Given the description of an element on the screen output the (x, y) to click on. 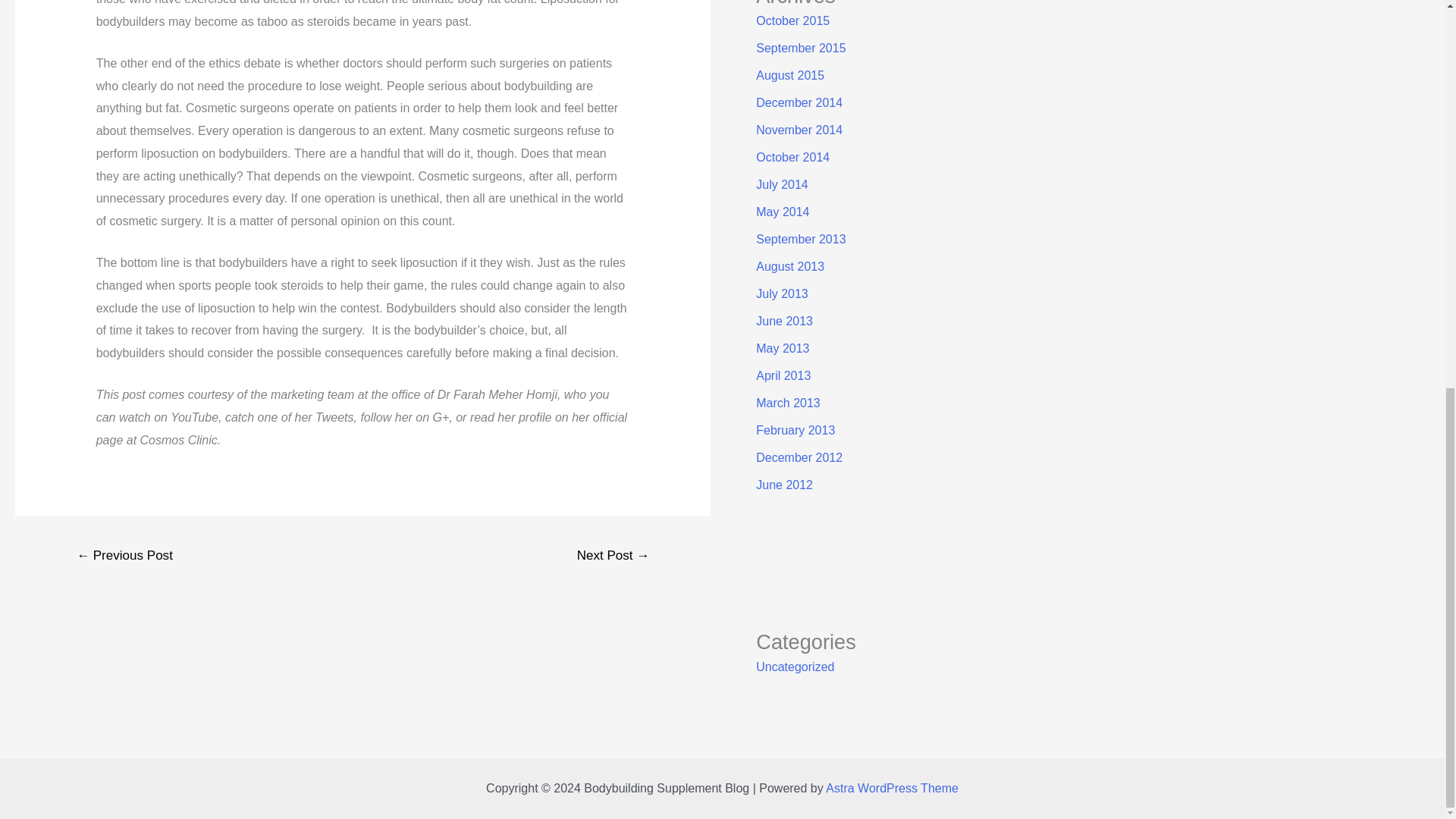
February 2013 (794, 430)
Uncategorized (794, 666)
May 2013 (782, 348)
June 2012 (783, 484)
December 2014 (799, 102)
October 2014 (792, 156)
April 2013 (782, 375)
October 2015 (792, 20)
July 2014 (781, 184)
August 2013 (789, 266)
